Given the description of an element on the screen output the (x, y) to click on. 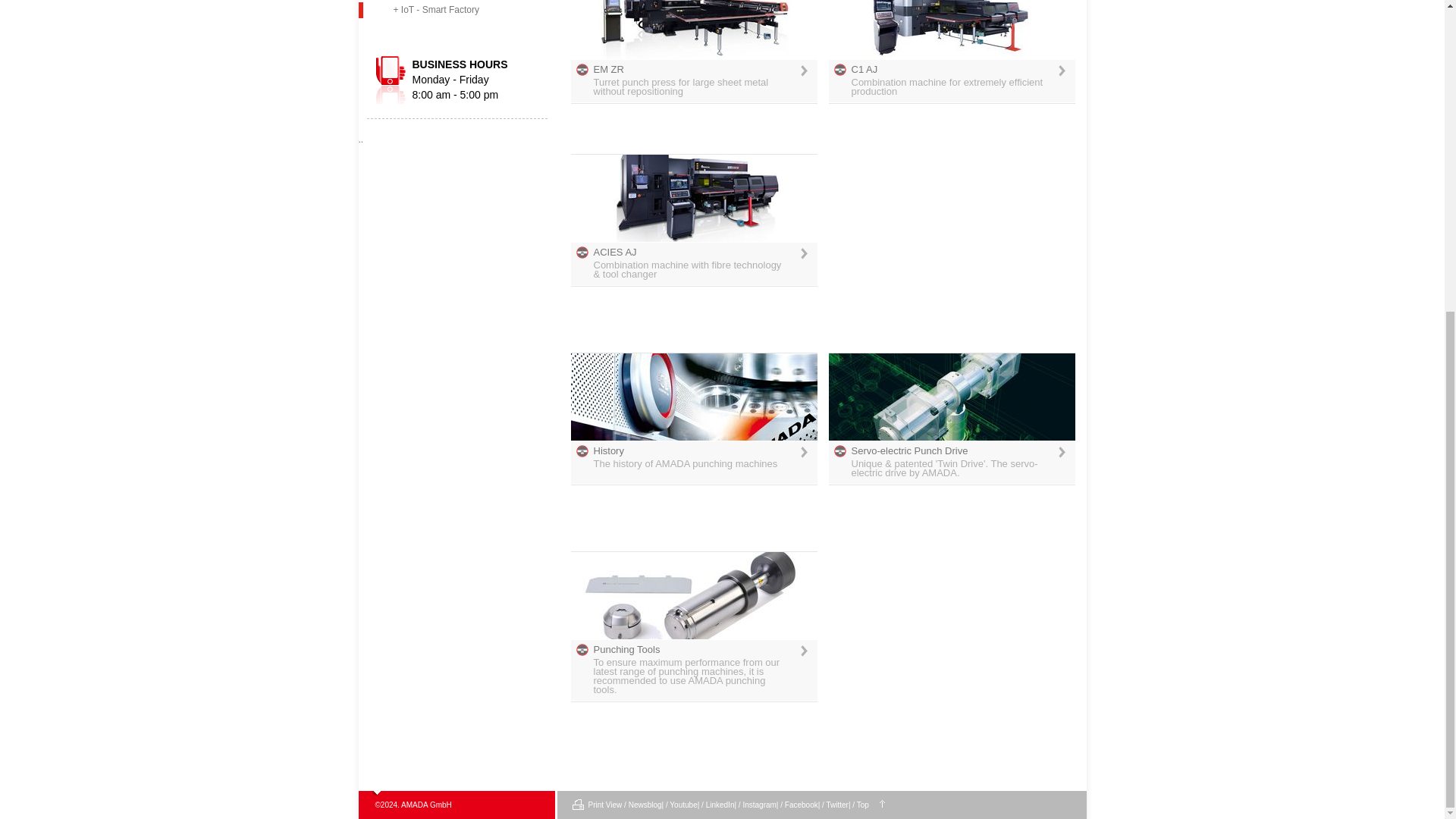
Punching Tools (693, 595)
The history of AMADA punching machines (693, 396)
ACIES AJ (693, 197)
EM ZR (693, 29)
Servo-electric Punch Drive (951, 396)
C1 AJ (951, 29)
